Given the description of an element on the screen output the (x, y) to click on. 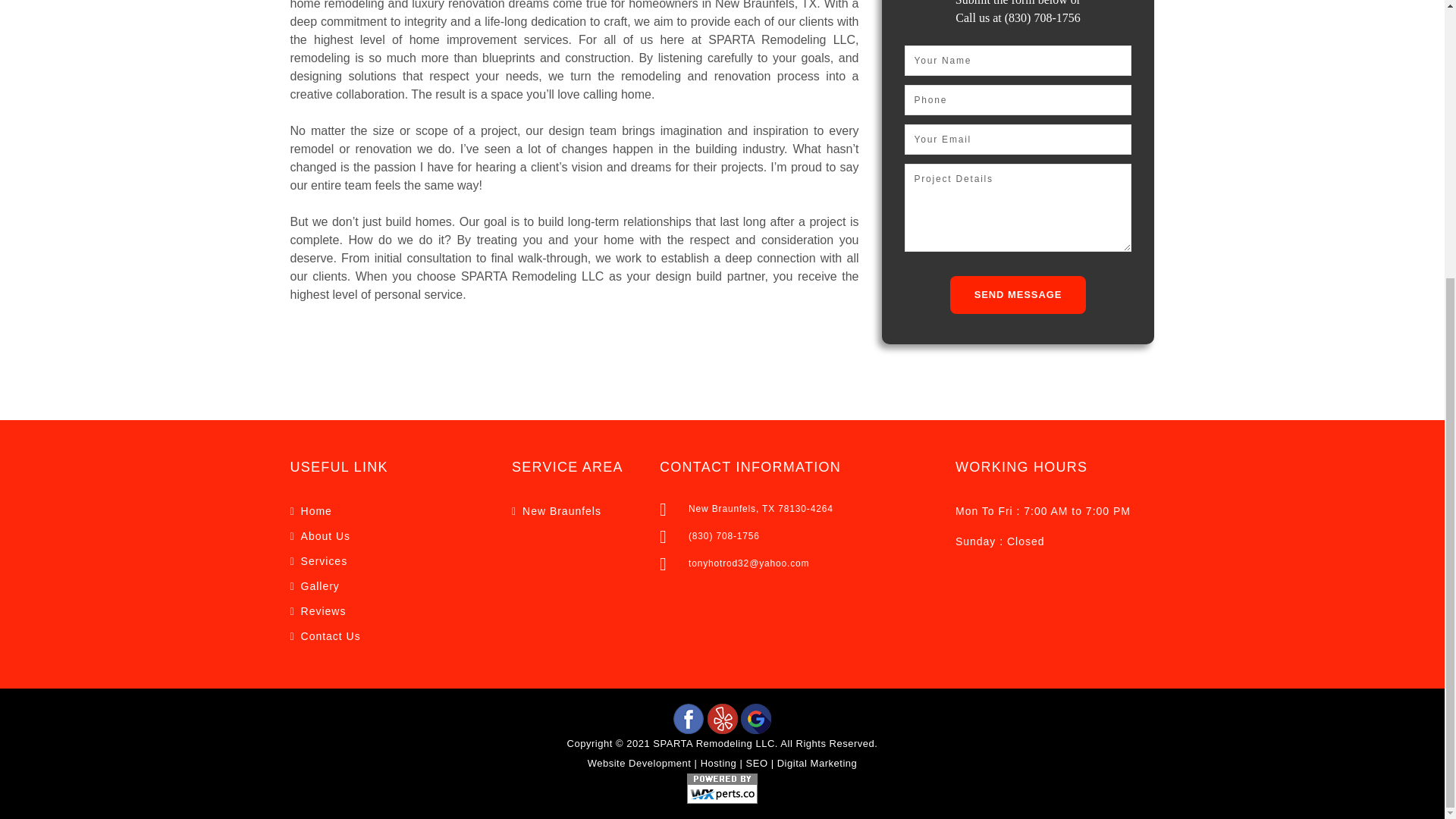
Gallery (320, 585)
SEO (756, 763)
About Us (325, 535)
Website Development (639, 763)
New Braunfels, TX 78130-4264 (760, 508)
Reviews (323, 611)
Digital Marketing (817, 763)
SEND MESSAGE (1018, 294)
Services (324, 561)
Home (316, 510)
Contact Us (331, 635)
Hosting (718, 763)
